Given the description of an element on the screen output the (x, y) to click on. 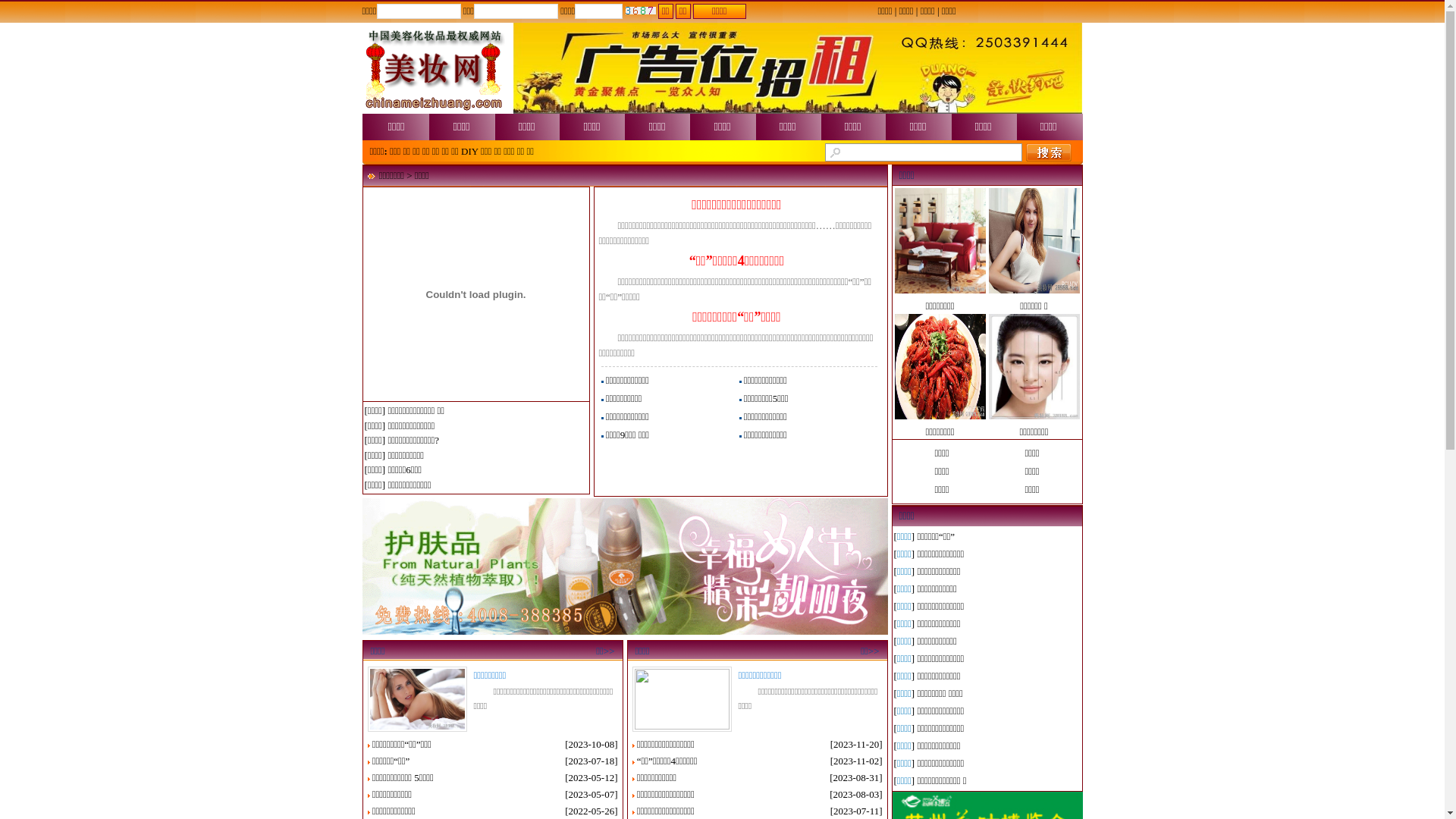
DIY Element type: text (469, 150)
   Element type: text (1048, 152)
